Given the description of an element on the screen output the (x, y) to click on. 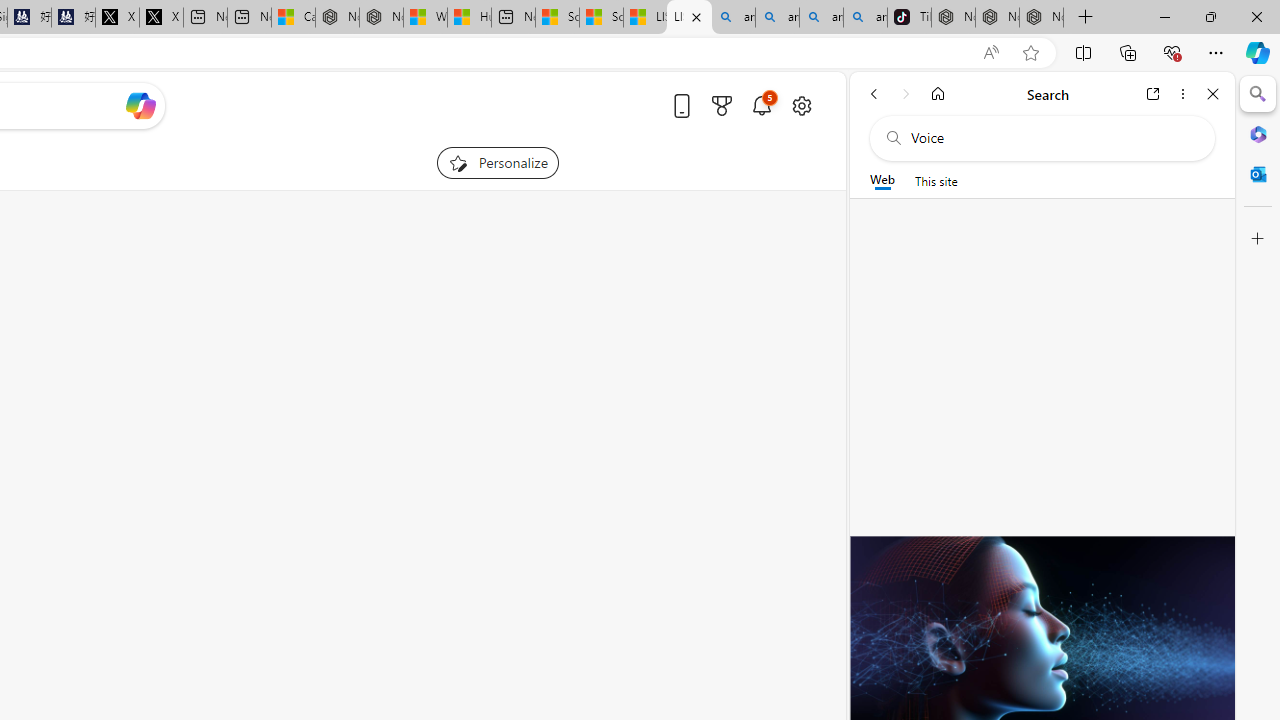
Nordace Siena Pro 15 Backpack (996, 17)
X (161, 17)
Forward (906, 93)
More options (1182, 93)
Wildlife - MSN (425, 17)
Open settings (801, 105)
Personalize your feed" (497, 162)
